Given the description of an element on the screen output the (x, y) to click on. 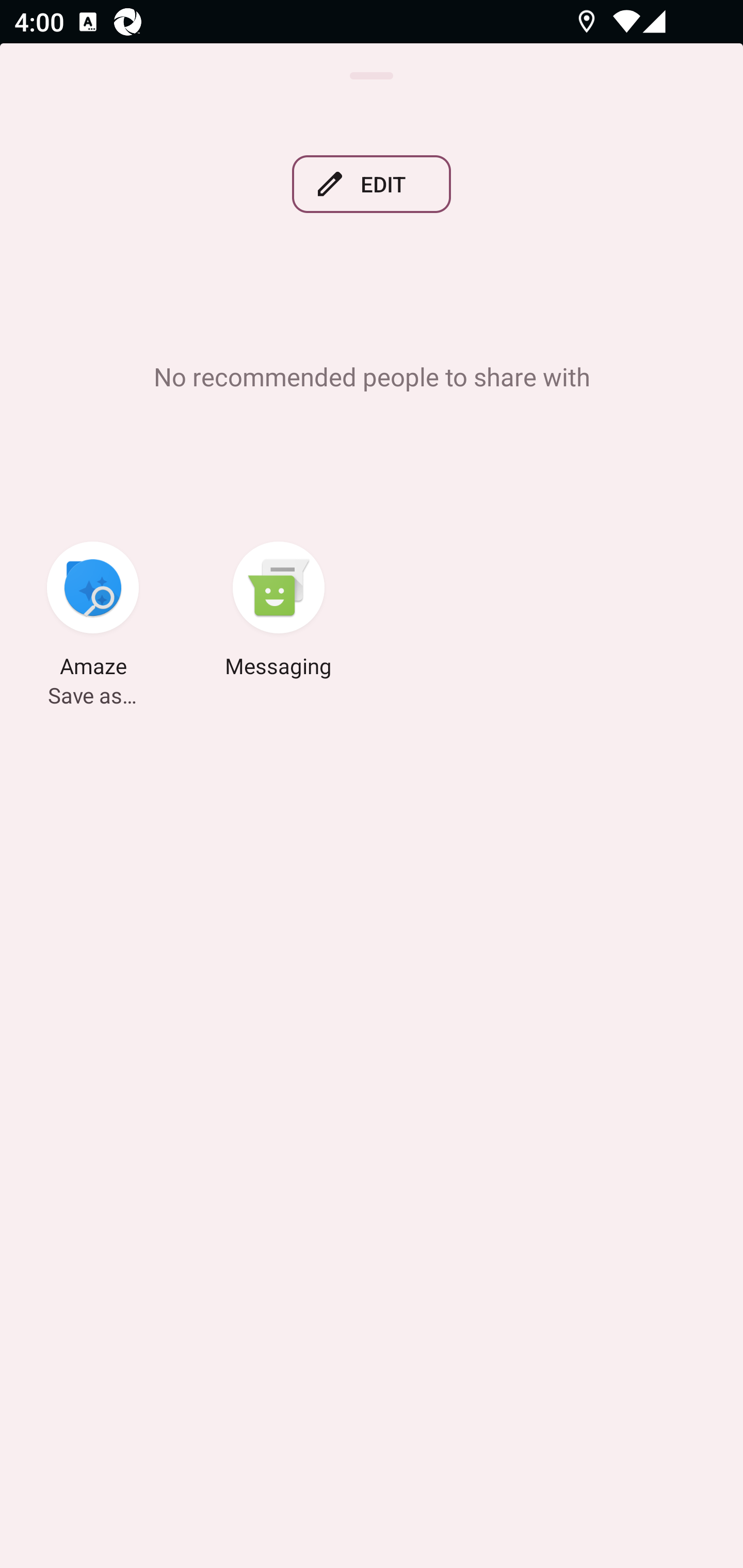
EDIT (371, 184)
Amaze Save as… (92, 611)
Messaging (278, 611)
